Given the description of an element on the screen output the (x, y) to click on. 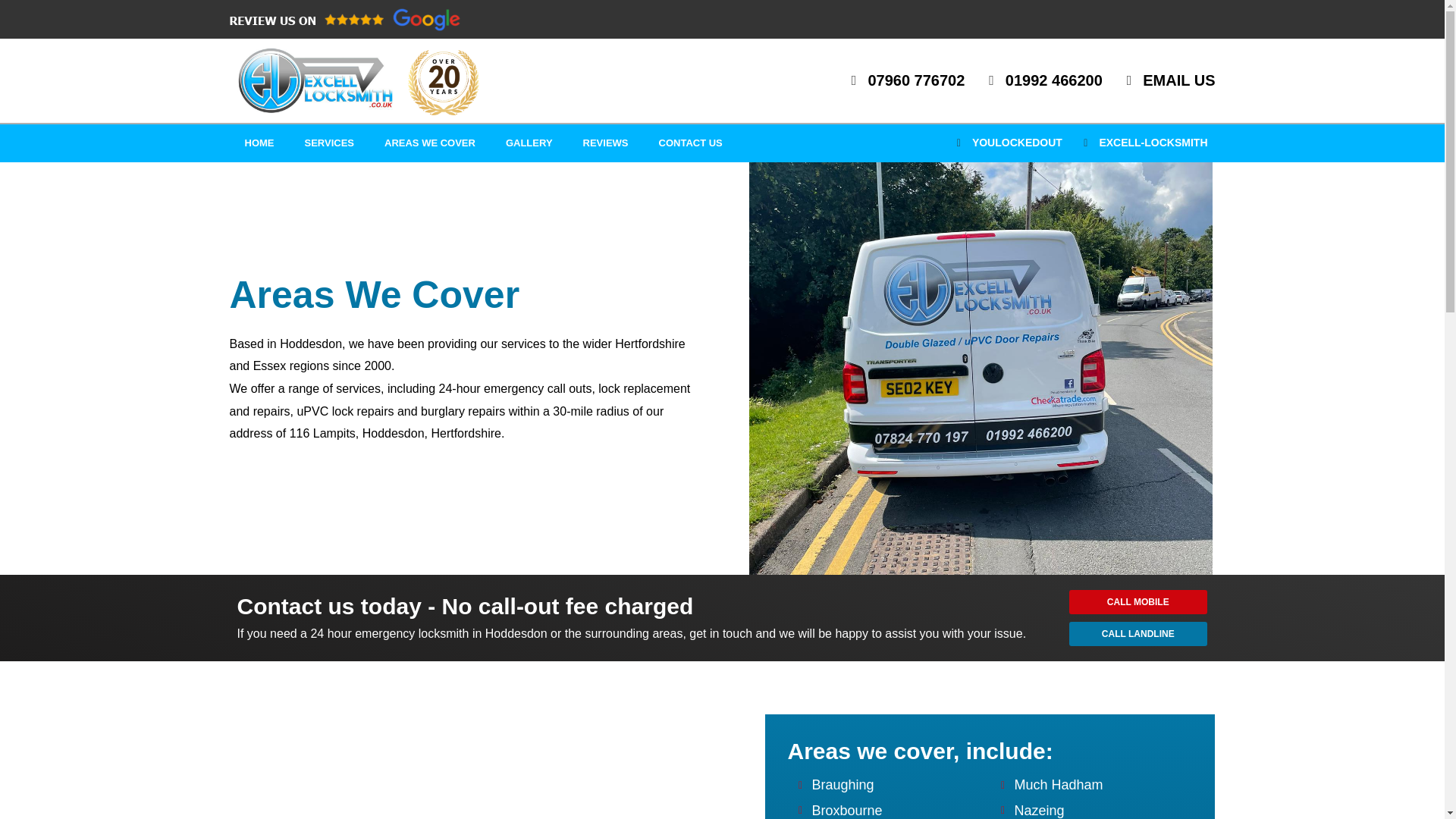
CONTACT US (690, 143)
YOULOCKEDOUT (1004, 143)
HOME (258, 143)
REVIEWS (605, 143)
01992 466200 (1039, 80)
SERVICES (329, 143)
AREAS WE COVER (429, 143)
EMAIL US (1165, 80)
GALLERY (528, 143)
07960 776702 (901, 80)
Excell Locksmith (496, 770)
CALL MOBILE (1138, 601)
EXCELL-LOCKSMITH (1141, 143)
